Given the description of an element on the screen output the (x, y) to click on. 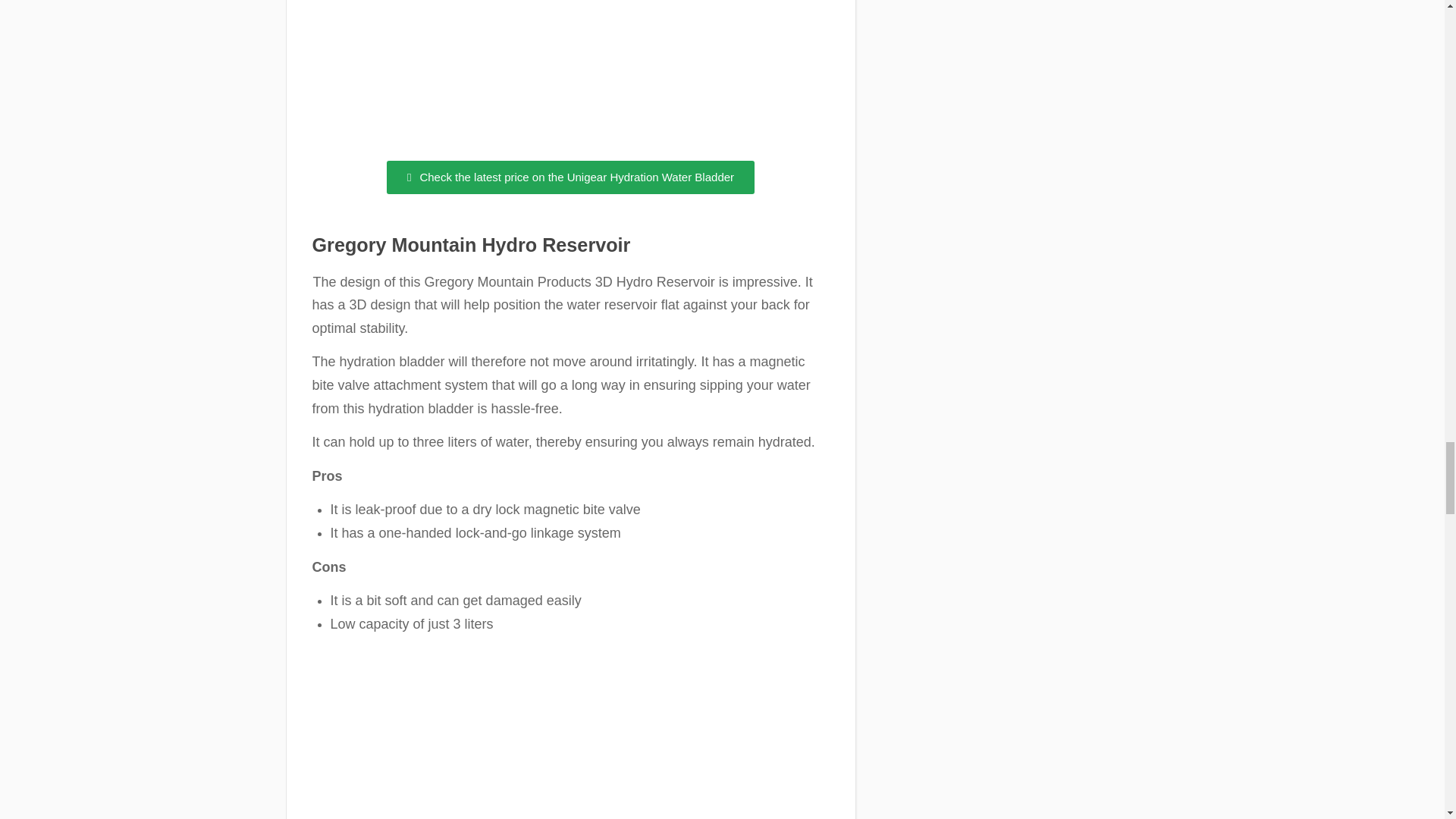
Gregory Mountain Hydro Reservoir (471, 244)
